Given the description of an element on the screen output the (x, y) to click on. 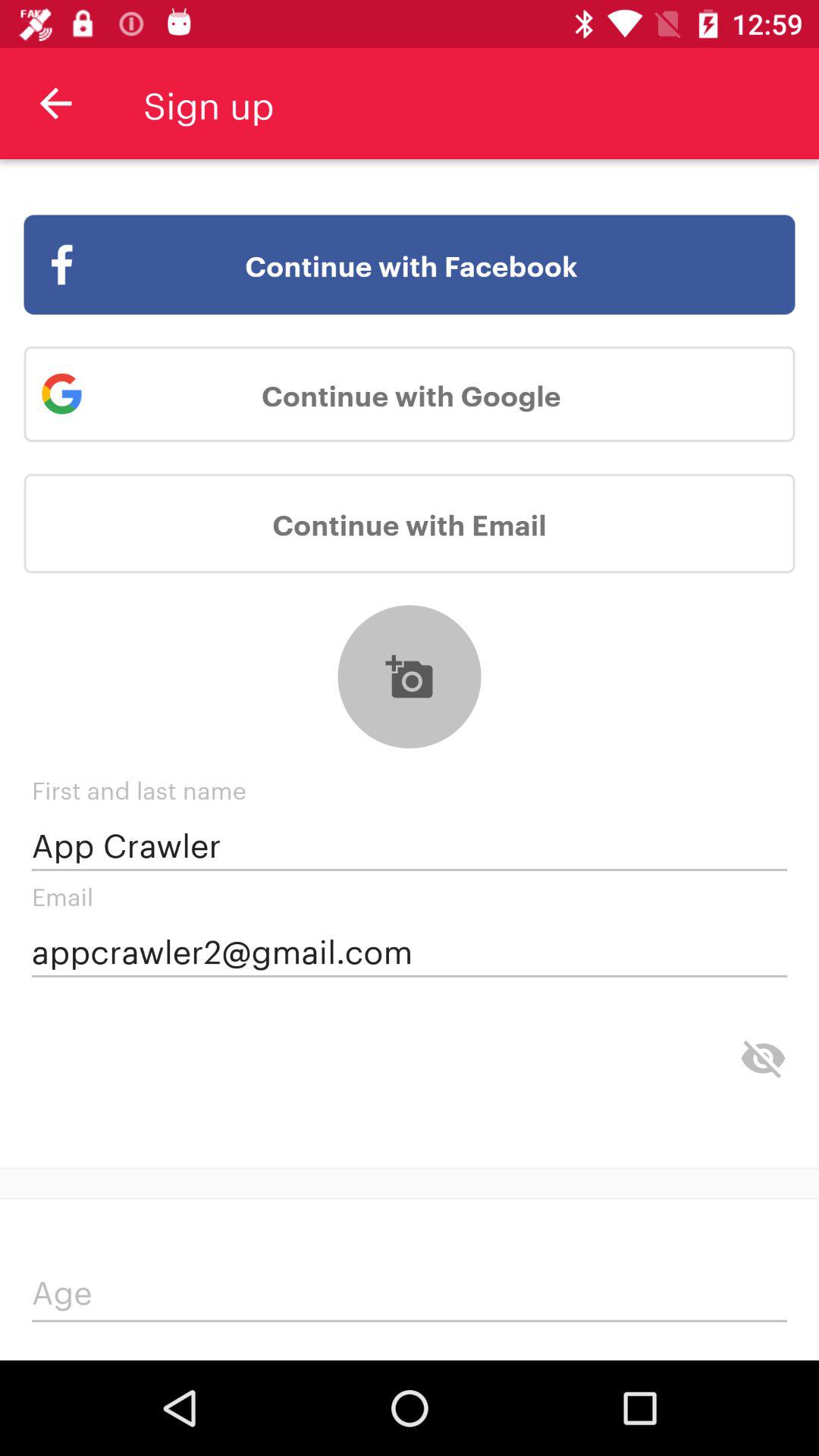
enter your age (409, 1294)
